Given the description of an element on the screen output the (x, y) to click on. 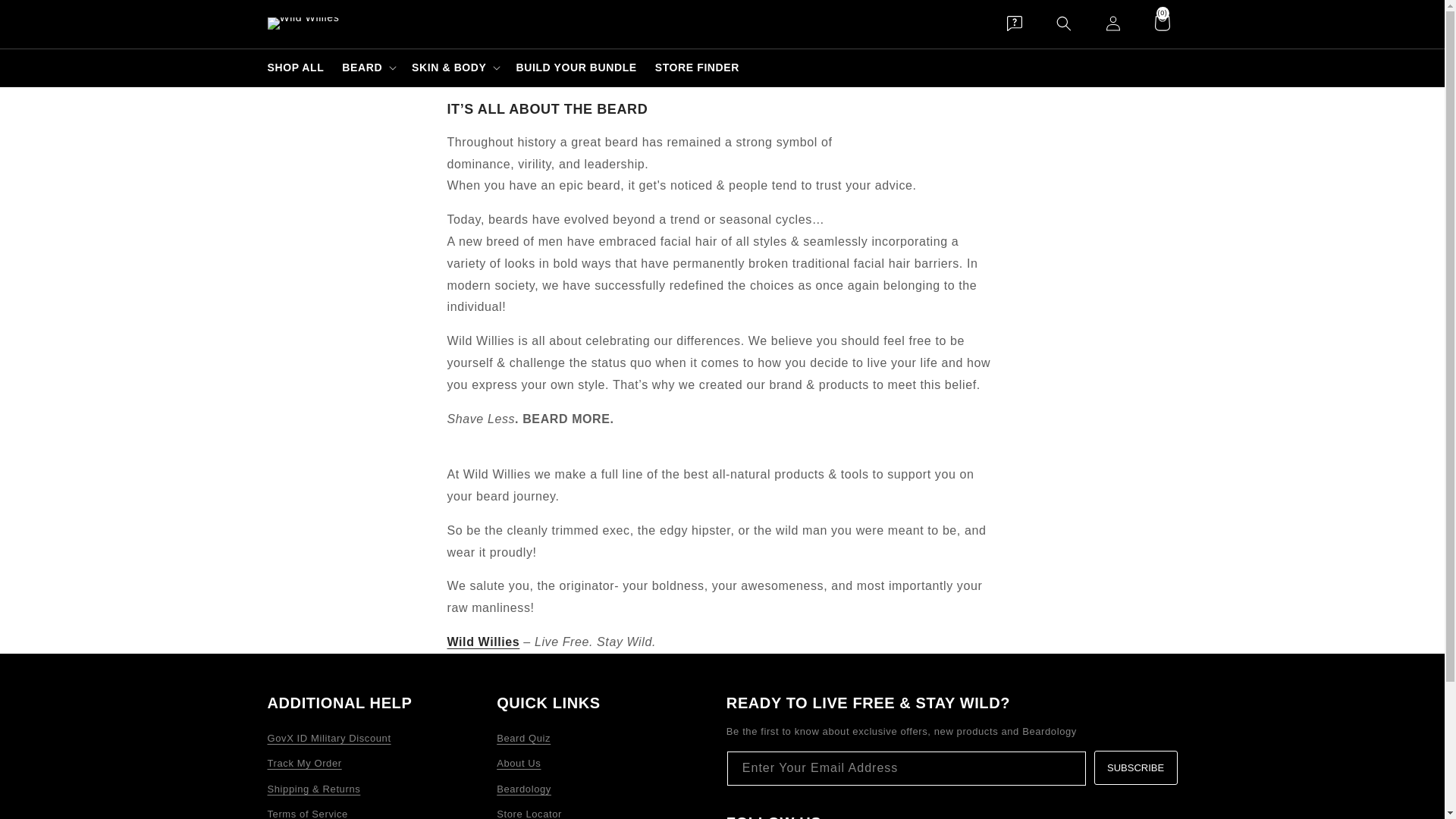
Skip to content (45, 17)
SHOP ALL (295, 67)
Wild Willies (482, 641)
BUILD YOUR BUNDLE (575, 67)
